Given the description of an element on the screen output the (x, y) to click on. 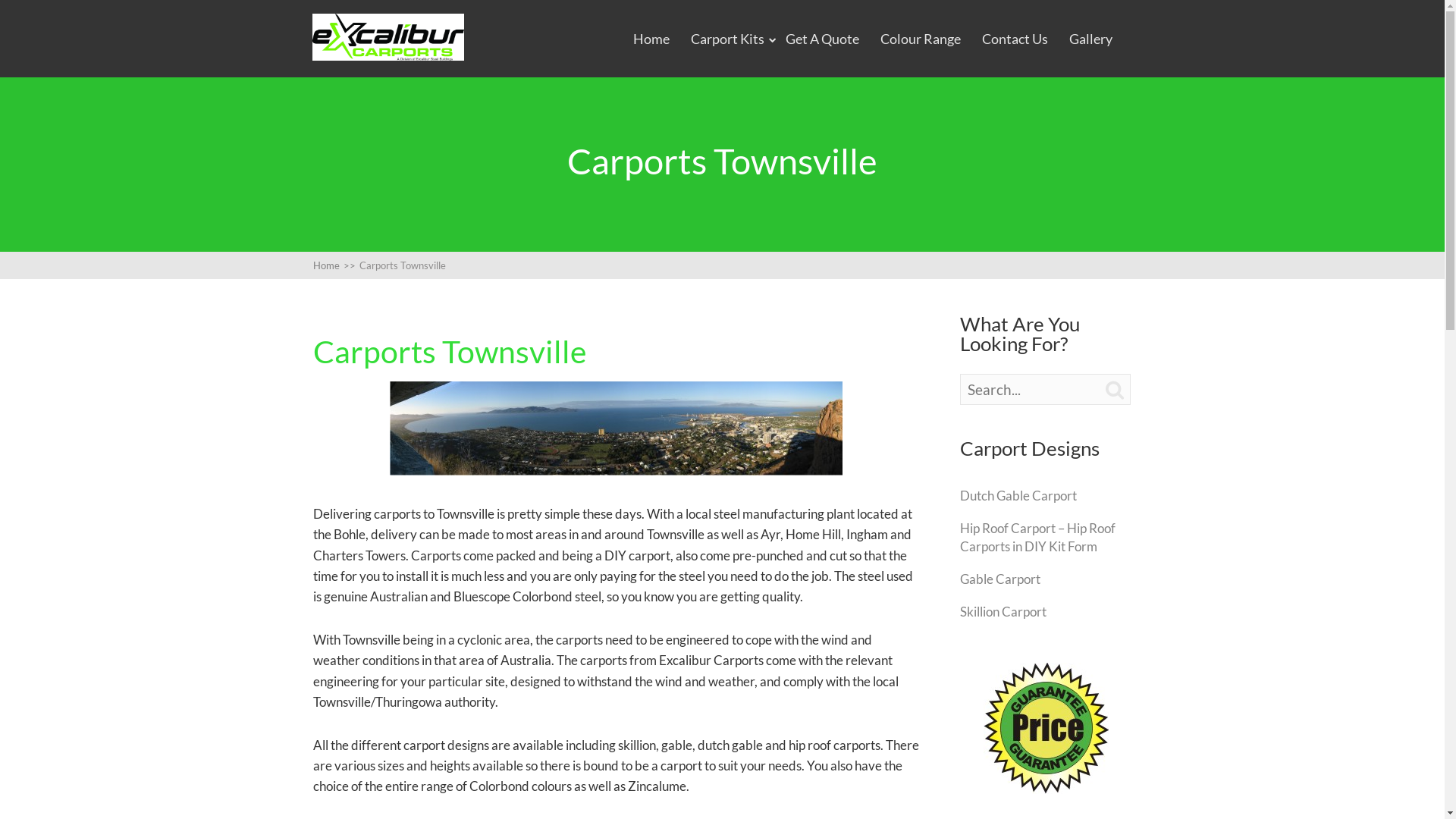
Gable Carport Element type: text (1000, 578)
Contact Us Element type: text (1015, 38)
Price Guarantee on Carport Kits Element type: hover (1045, 727)
Home >> Element type: text (335, 265)
Carport Kits Element type: text (727, 38)
Get A Quote Element type: text (822, 38)
Home Element type: text (651, 38)
Skillion Carport Element type: text (1003, 611)
Gallery Element type: text (1090, 38)
Dutch Gable Carport Element type: text (1018, 495)
Colour Range Element type: text (920, 38)
